Given the description of an element on the screen output the (x, y) to click on. 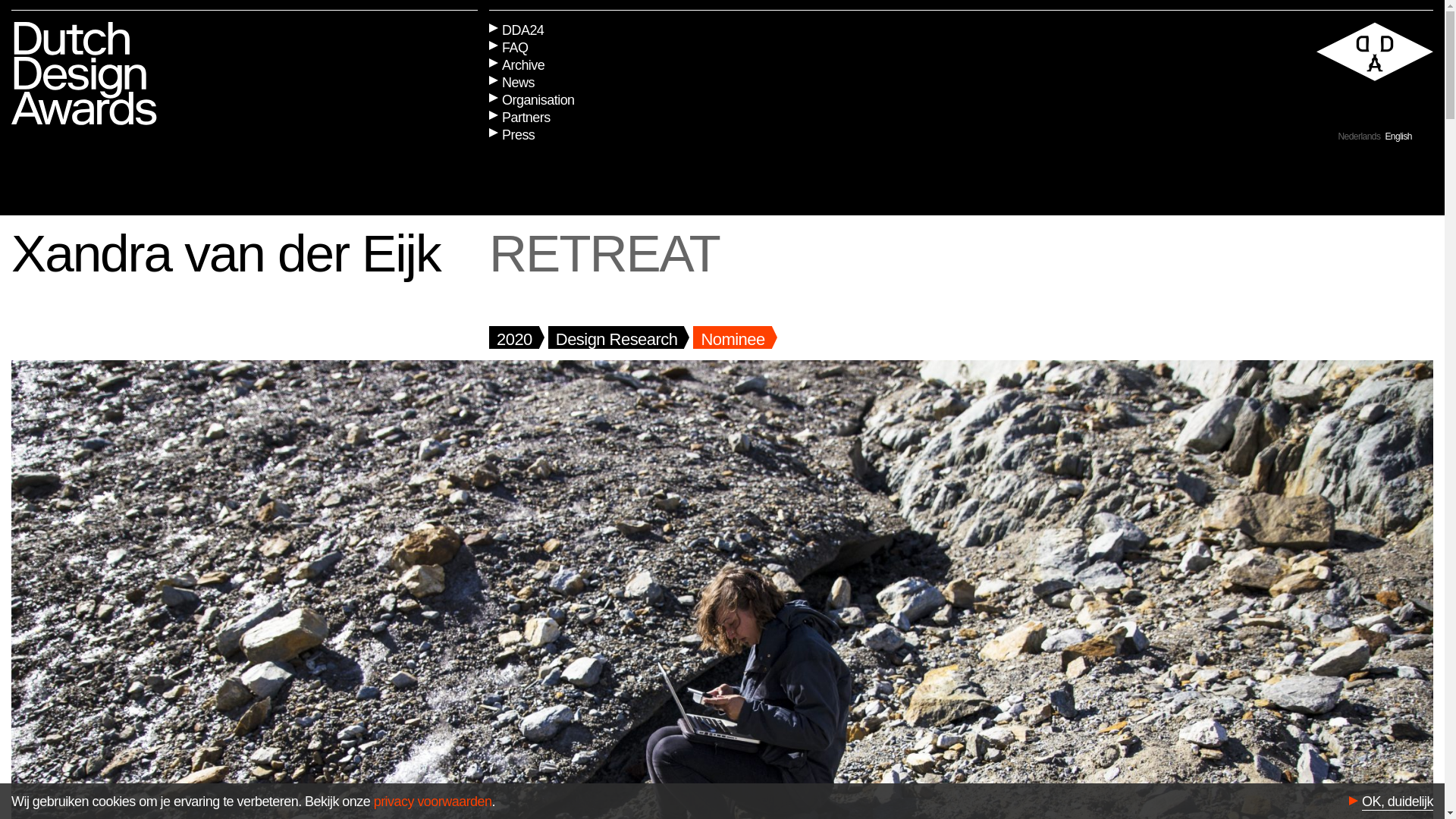
Nederlands (1359, 136)
privacy voorwaarden (433, 801)
OK, duidelijk (1396, 803)
Press (511, 135)
DDA24 (516, 30)
Design Research (616, 336)
FAQ (508, 47)
English (1398, 136)
Partners (519, 117)
News (511, 82)
